Given the description of an element on the screen output the (x, y) to click on. 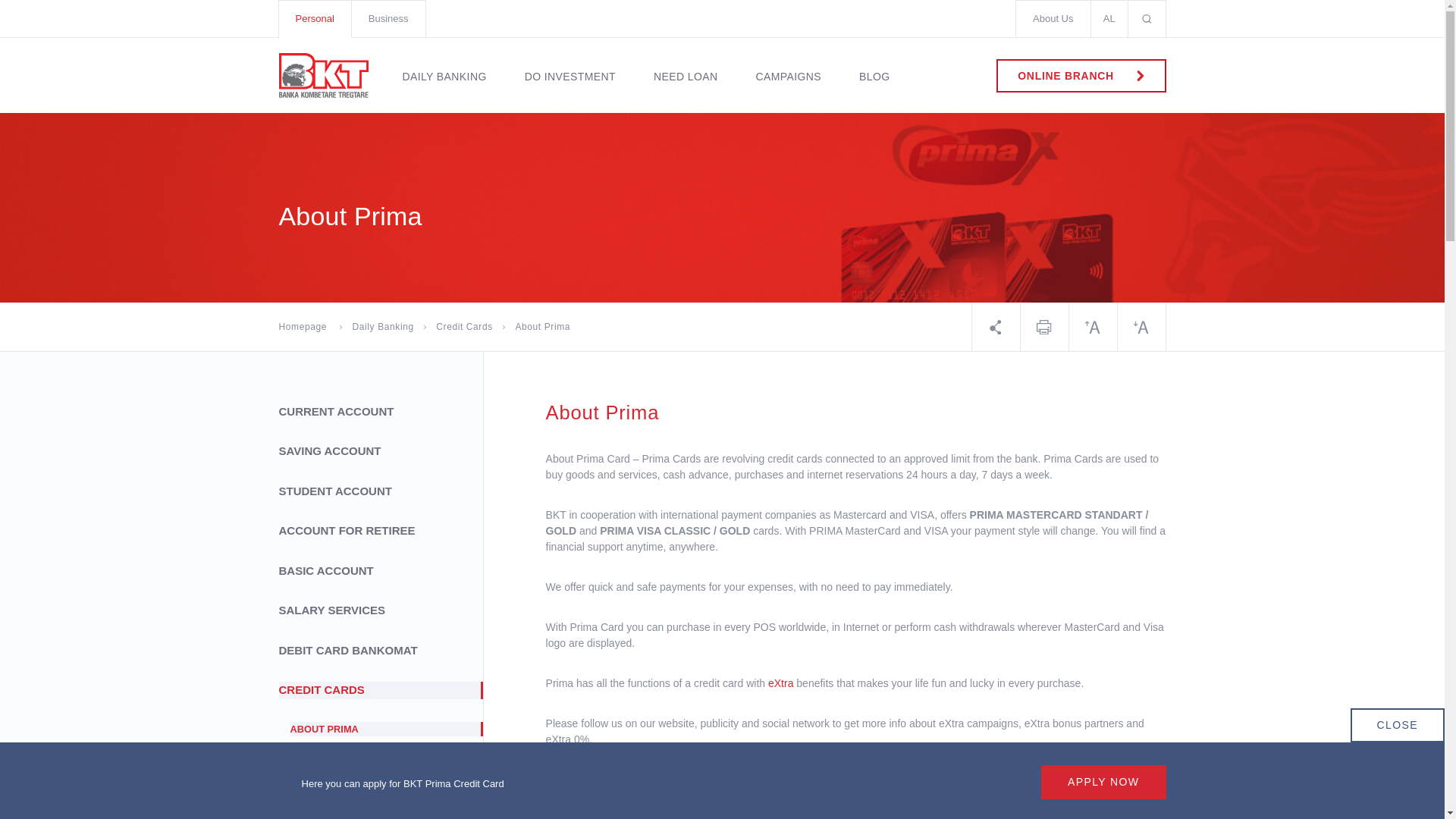
Daily Banking (444, 91)
Business (388, 18)
About Us (1052, 18)
AL (1109, 18)
DO INVESTMENT (568, 91)
DAILY BANKING (444, 91)
Personal (314, 18)
